Given the description of an element on the screen output the (x, y) to click on. 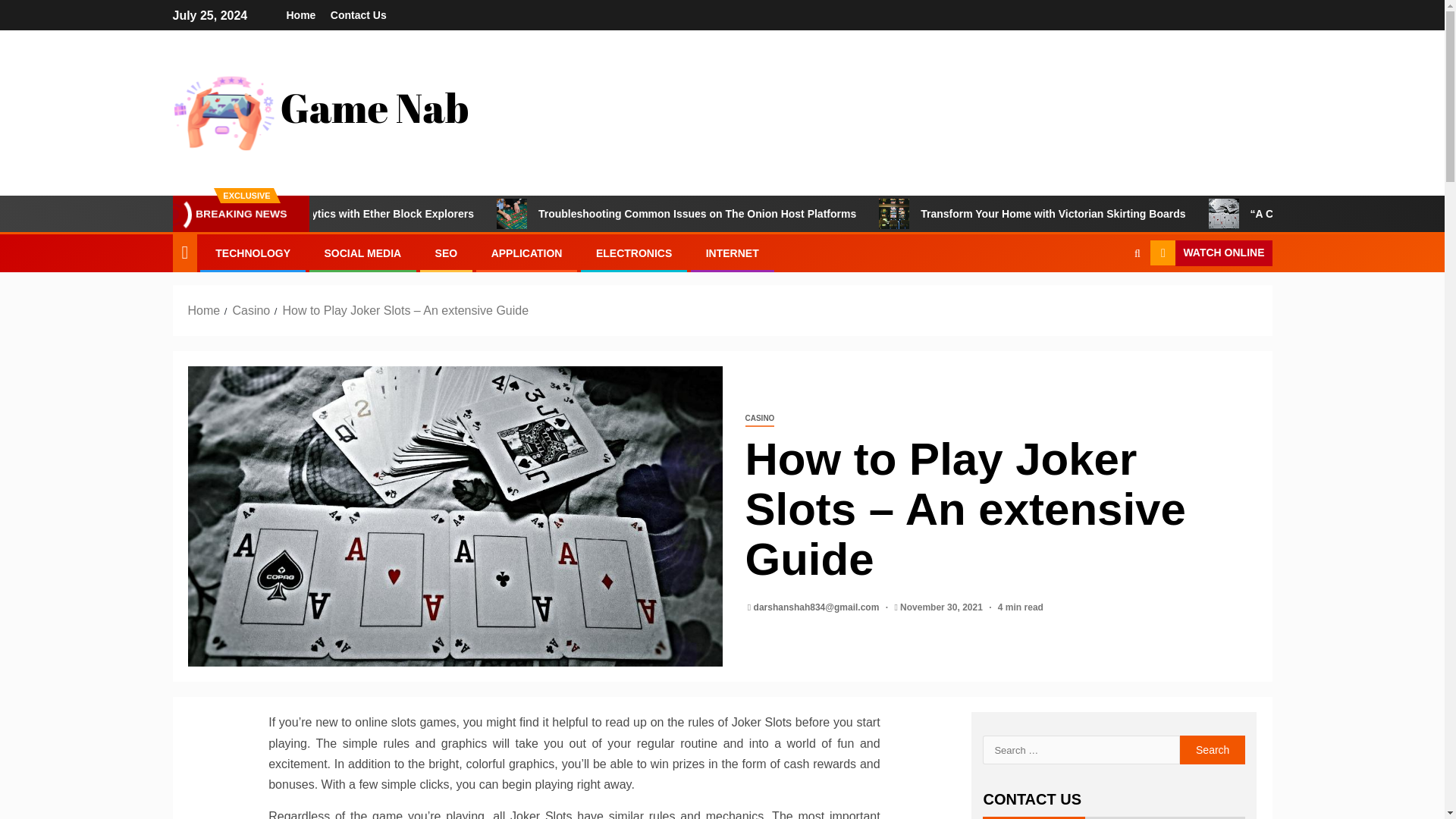
TECHNOLOGY (252, 253)
SOCIAL MEDIA (362, 253)
Search (1212, 749)
Home (204, 309)
CASINO (759, 418)
WATCH ONLINE (1210, 253)
ELECTRONICS (633, 253)
Casino (250, 309)
Troubleshooting Common Issues on The Onion Host Platforms (799, 214)
APPLICATION (527, 253)
INTERNET (732, 253)
SEO (446, 253)
Transform Your Home with Victorian Skirting Boards (1154, 214)
Home (300, 15)
Contact Us (358, 15)
